Given the description of an element on the screen output the (x, y) to click on. 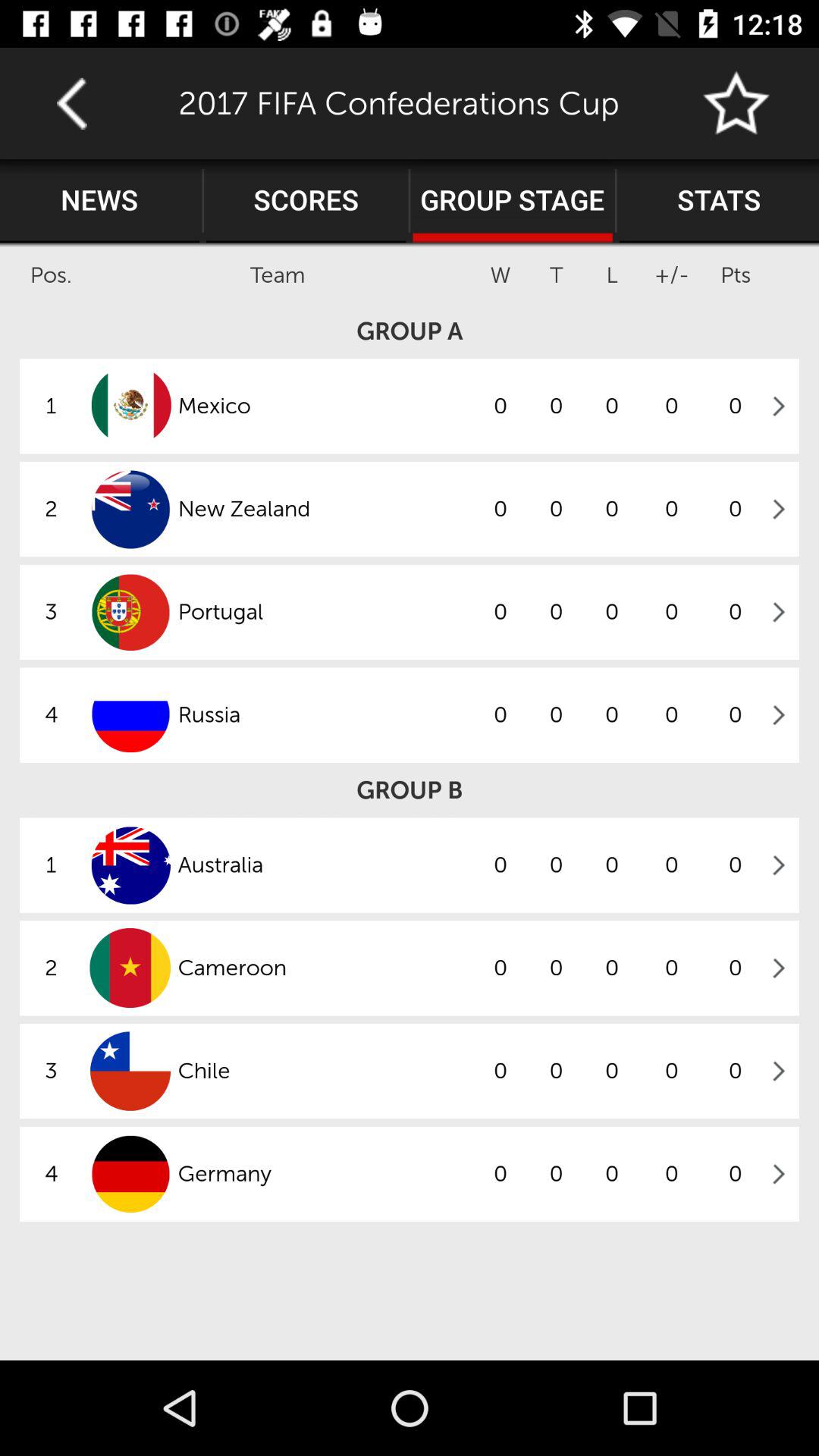
launch icon next to 2017 fifa confederations (71, 103)
